Given the description of an element on the screen output the (x, y) to click on. 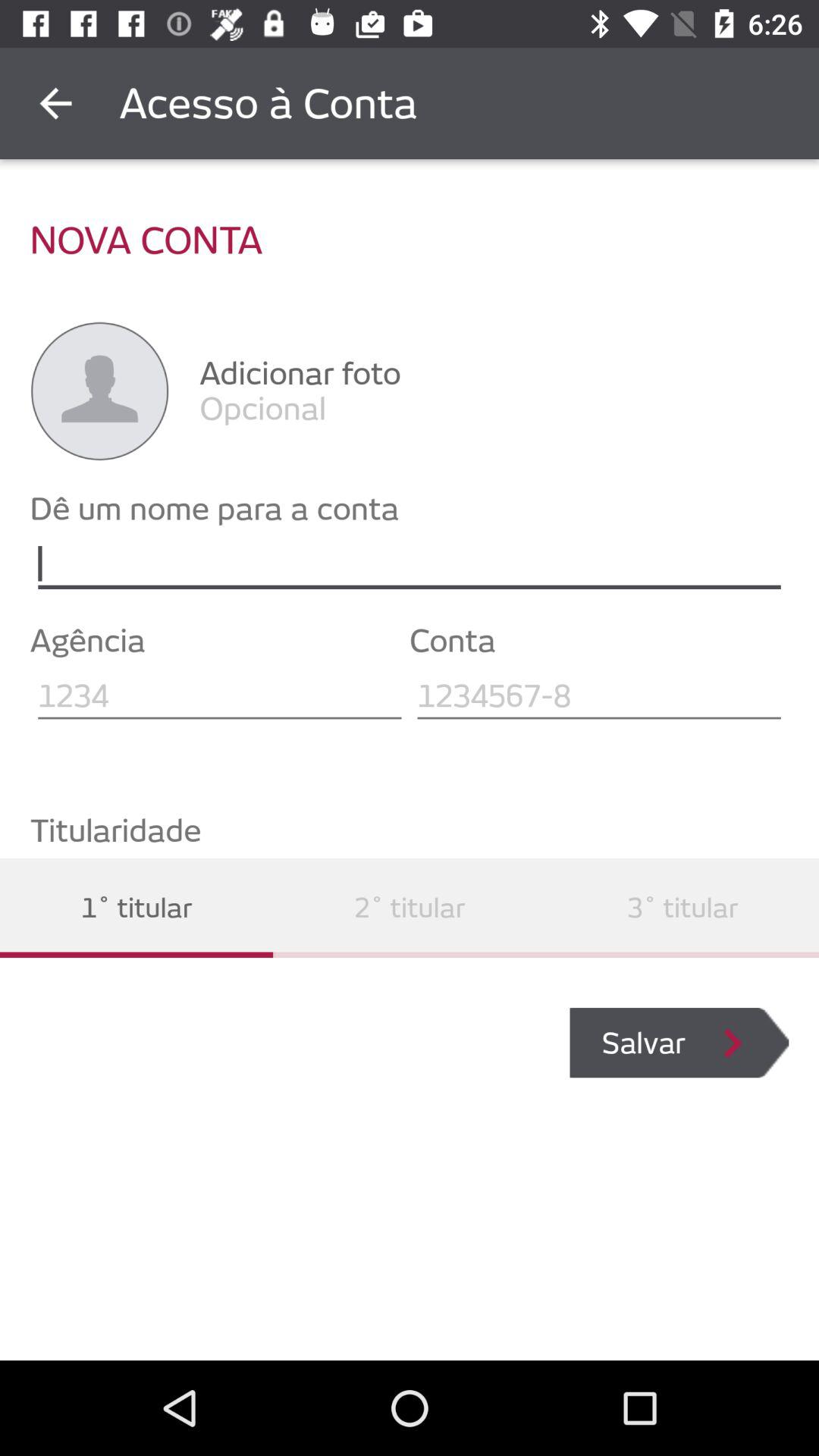
name field (409, 564)
